Given the description of an element on the screen output the (x, y) to click on. 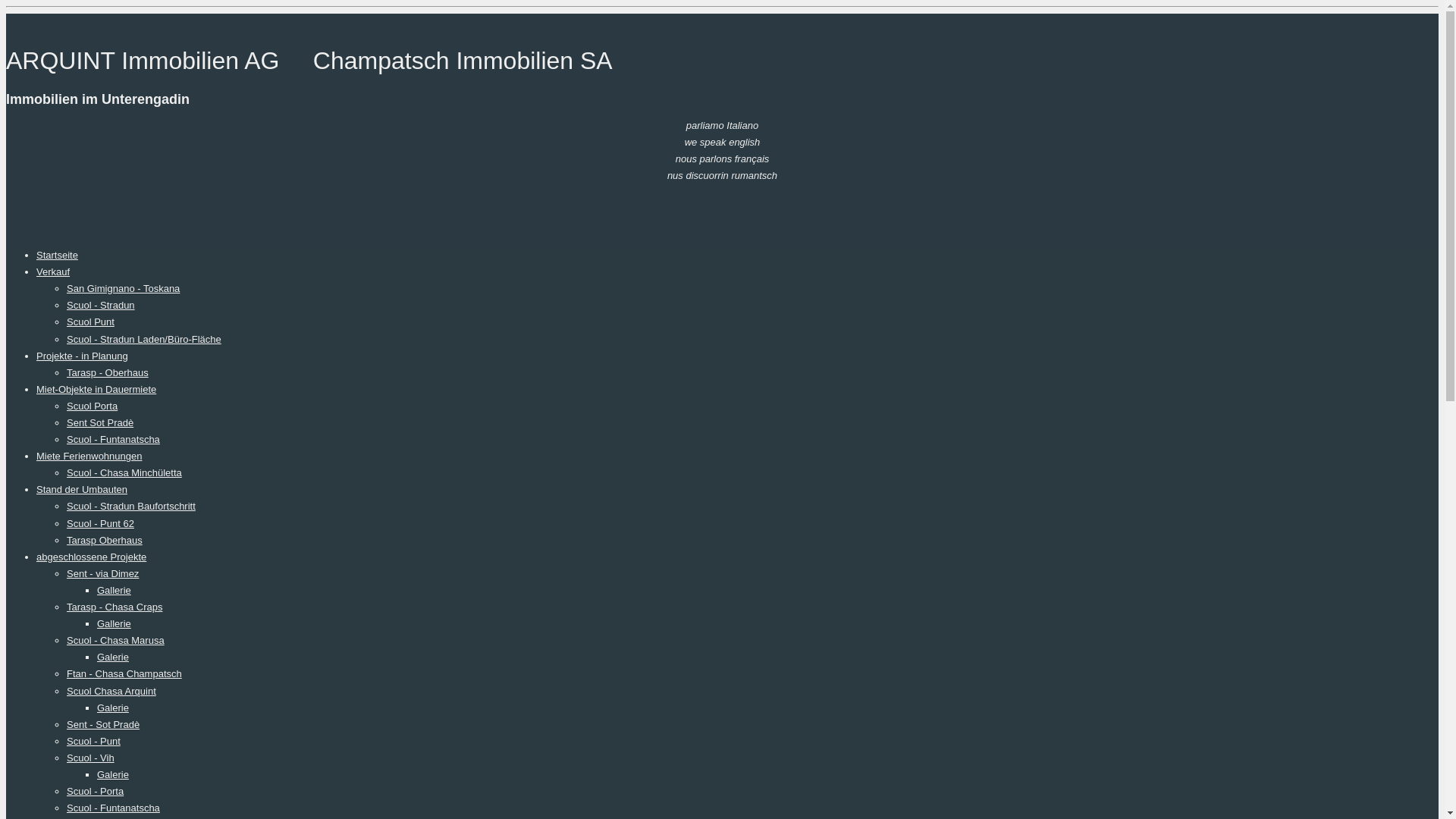
Ftan - Chasa Champatsch Element type: text (124, 673)
Tarasp - Chasa Craps Element type: text (114, 606)
San Gimignano - Toskana Element type: text (122, 288)
Galerie Element type: text (112, 774)
Scuol - Vih Element type: text (90, 757)
Scuol - Stradun Element type: text (100, 304)
Tarasp - Oberhaus Element type: text (107, 372)
Scuol - Chasa Marusa Element type: text (115, 640)
Scuol - Stradun Baufortschritt Element type: text (130, 505)
Scuol - Punt Element type: text (93, 740)
Scuol - Funtanatscha Element type: text (113, 807)
Startseite Element type: text (57, 254)
Scuol - Funtanatscha Element type: text (113, 439)
Tarasp Oberhaus Element type: text (104, 540)
abgeschlossene Projekte Element type: text (91, 556)
Verkauf Element type: text (52, 271)
Projekte - in Planung Element type: text (82, 355)
Gallerie Element type: text (114, 623)
Stand der Umbauten Element type: text (81, 489)
Miet-Objekte in Dauermiete Element type: text (96, 389)
Scuol - Porta Element type: text (94, 791)
Galerie Element type: text (112, 656)
Scuol Punt Element type: text (90, 321)
Scuol - Punt 62 Element type: text (100, 523)
Scuol Chasa Arquint Element type: text (111, 690)
Miete Ferienwohnungen Element type: text (88, 455)
Galerie Element type: text (112, 707)
Sent - via Dimez Element type: text (102, 573)
Scuol Porta Element type: text (91, 405)
Gallerie Element type: text (114, 590)
